Given the description of an element on the screen output the (x, y) to click on. 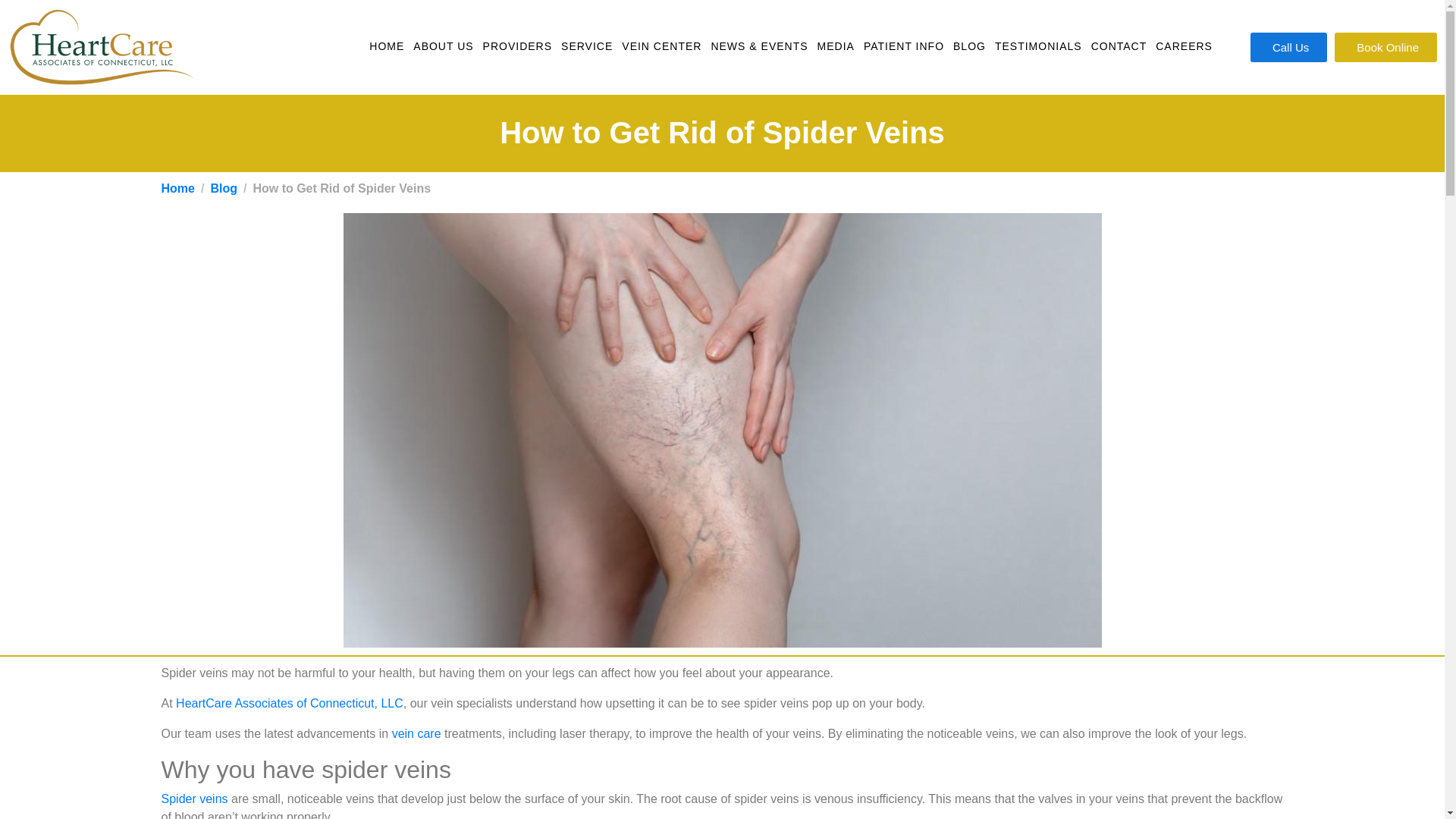
PROVIDERS (517, 47)
ABOUT US (443, 47)
HOME (386, 47)
PATIENT INFO (903, 47)
VEIN CENTER (661, 47)
MEDIA (835, 47)
SERVICE (586, 47)
